Given the description of an element on the screen output the (x, y) to click on. 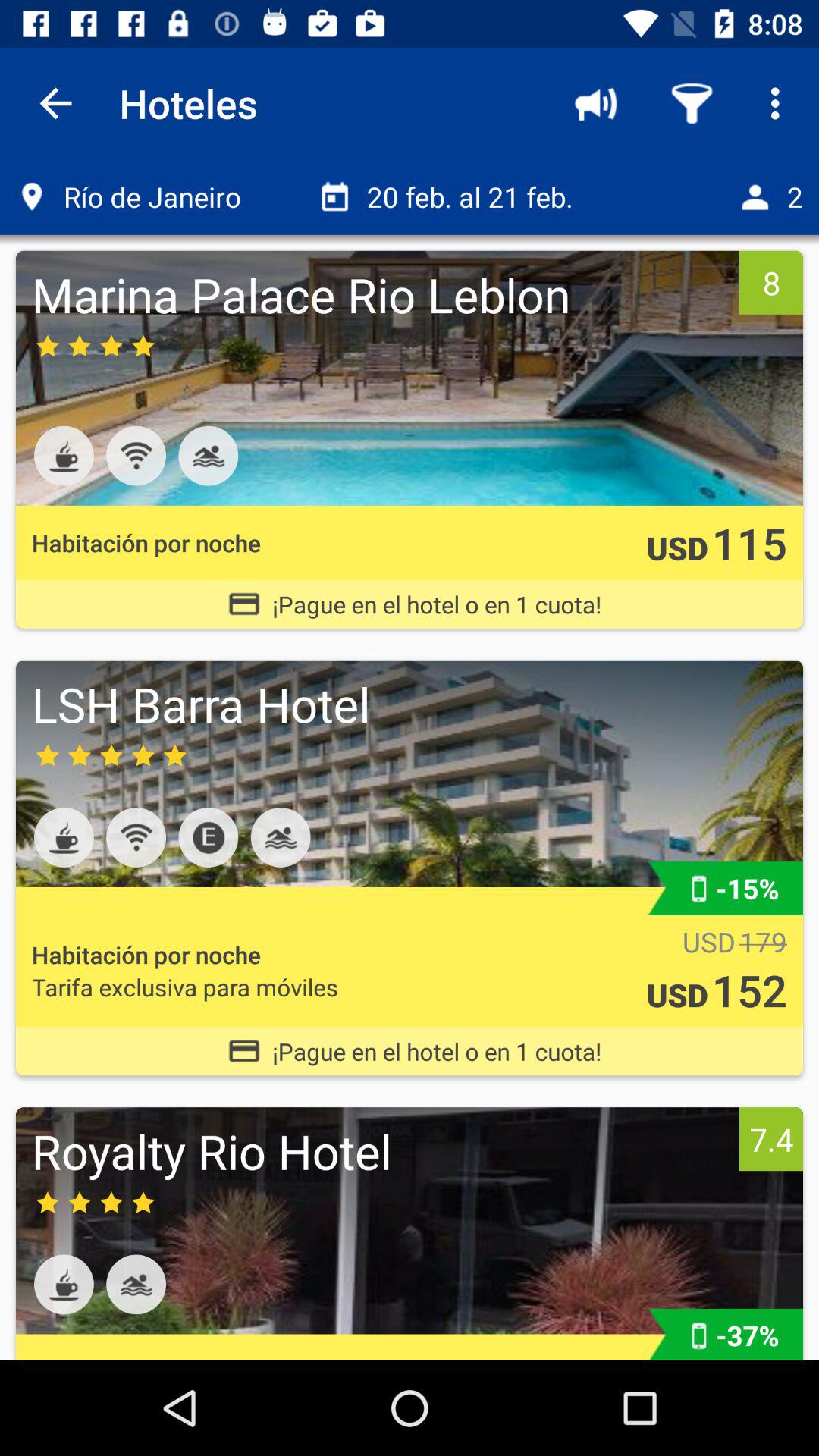
choose the 179 icon (763, 941)
